Given the description of an element on the screen output the (x, y) to click on. 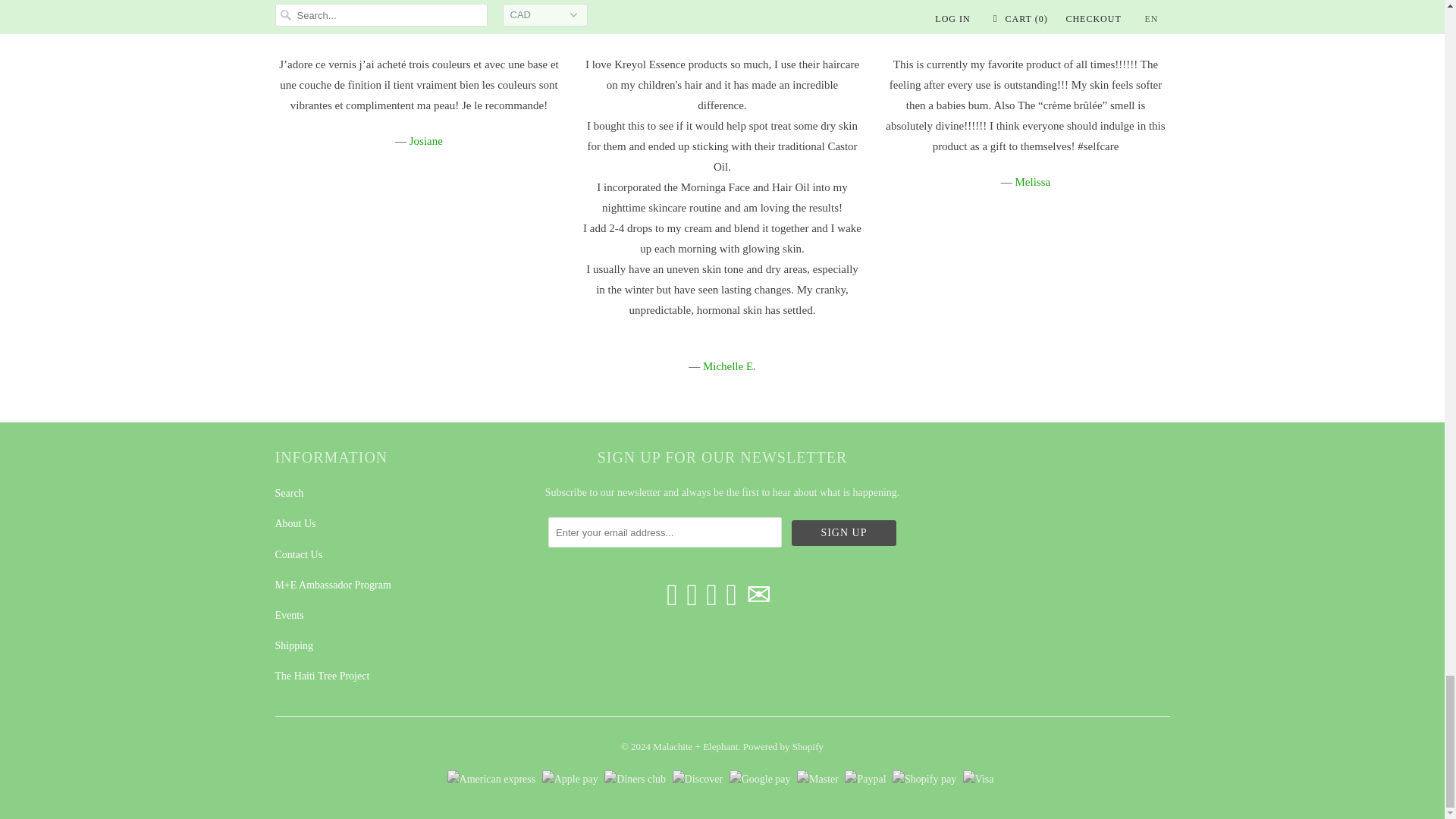
Sign Up (844, 533)
